Given the description of an element on the screen output the (x, y) to click on. 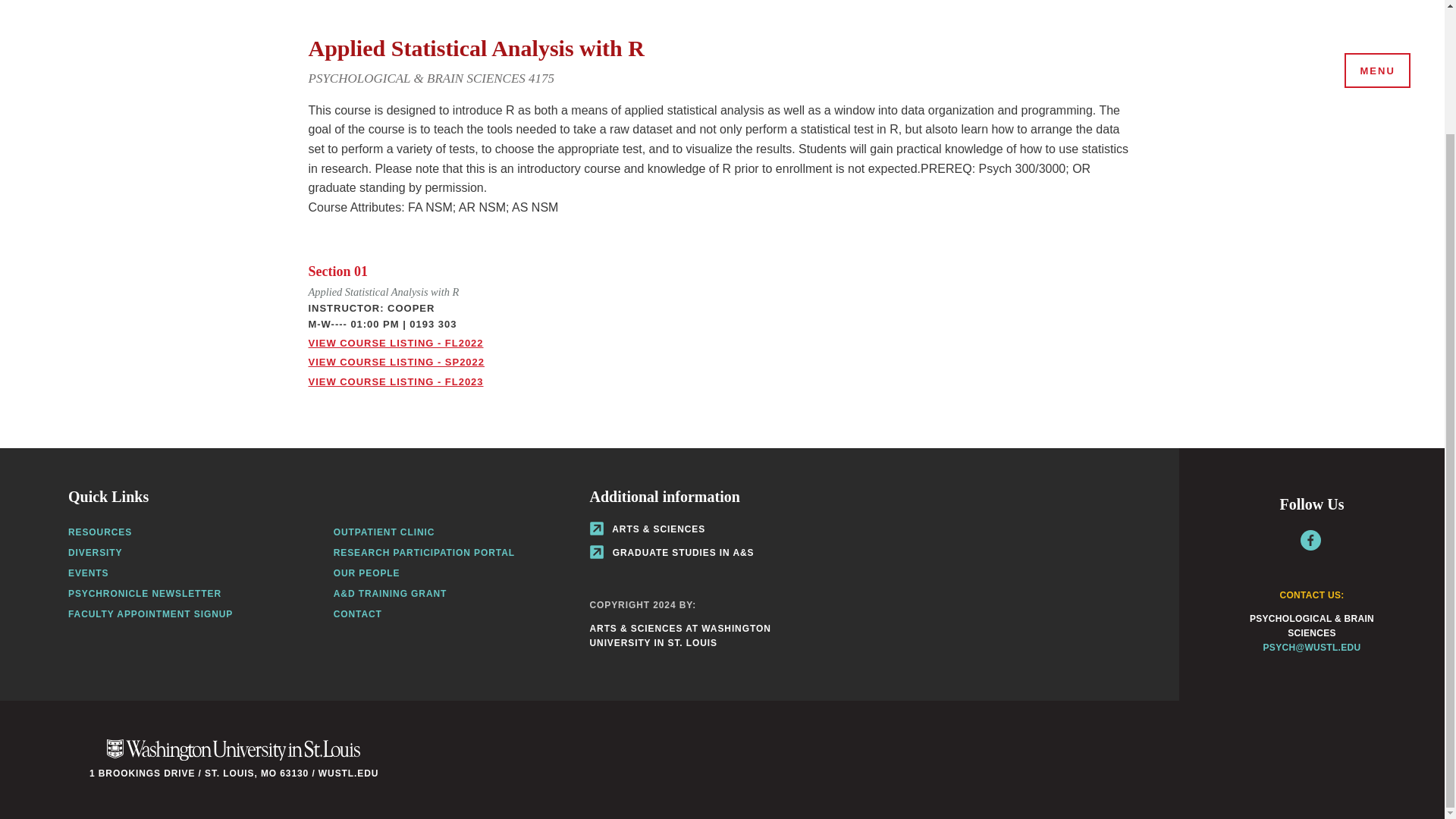
CONTACT (357, 614)
FACULTY APPOINTMENT SIGNUP (150, 614)
OUTPATIENT CLINIC (384, 532)
RESEARCH PARTICIPATION PORTAL (424, 552)
RESOURCES (100, 532)
VIEW COURSE LISTING - SP2022 (395, 361)
VIEW COURSE LISTING - FL2022 (395, 342)
DIVERSITY (95, 552)
OUR PEOPLE (366, 573)
EVENTS (87, 573)
